Given the description of an element on the screen output the (x, y) to click on. 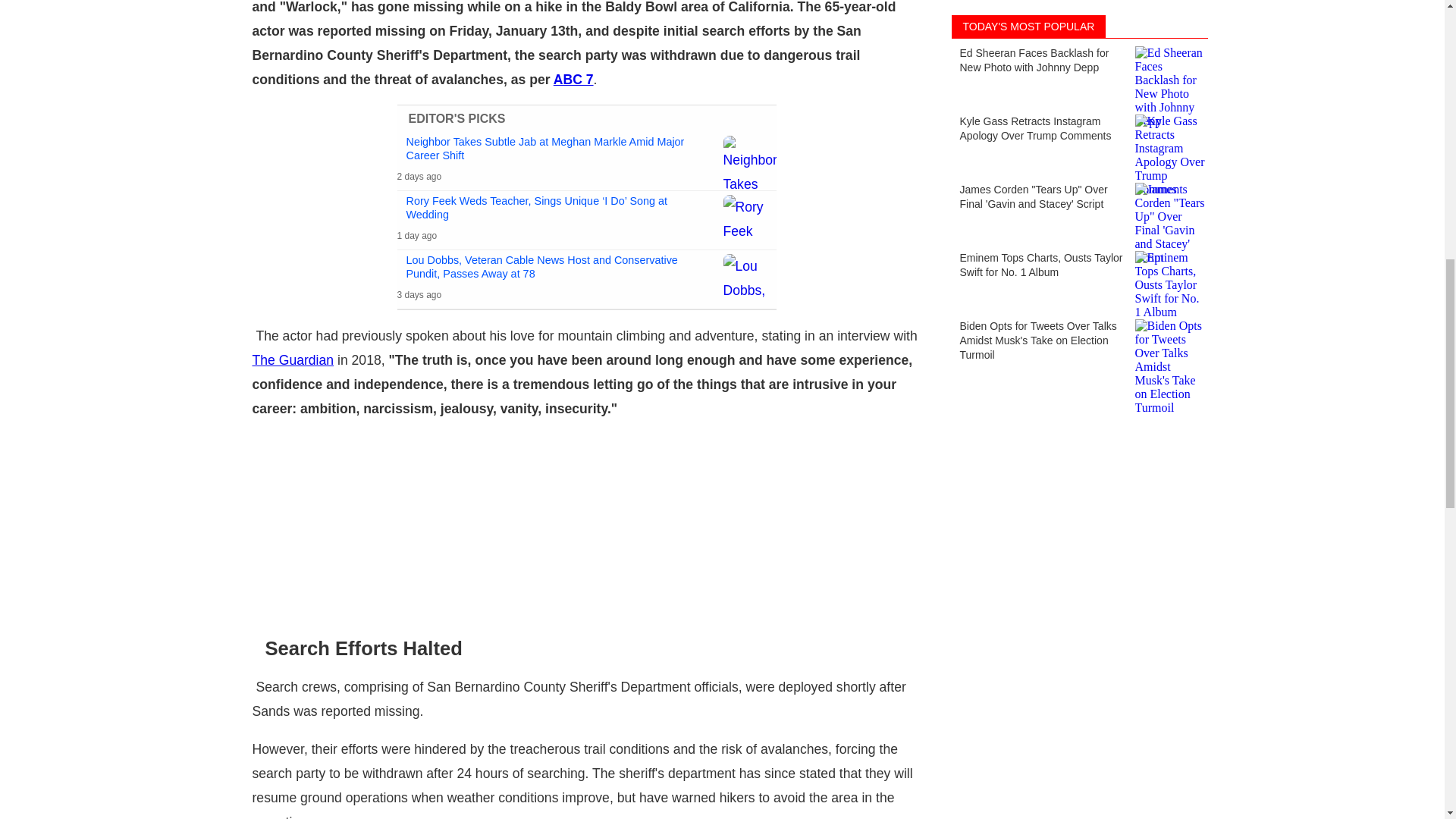
ABC 7 (573, 79)
The Guardian (292, 359)
